Given the description of an element on the screen output the (x, y) to click on. 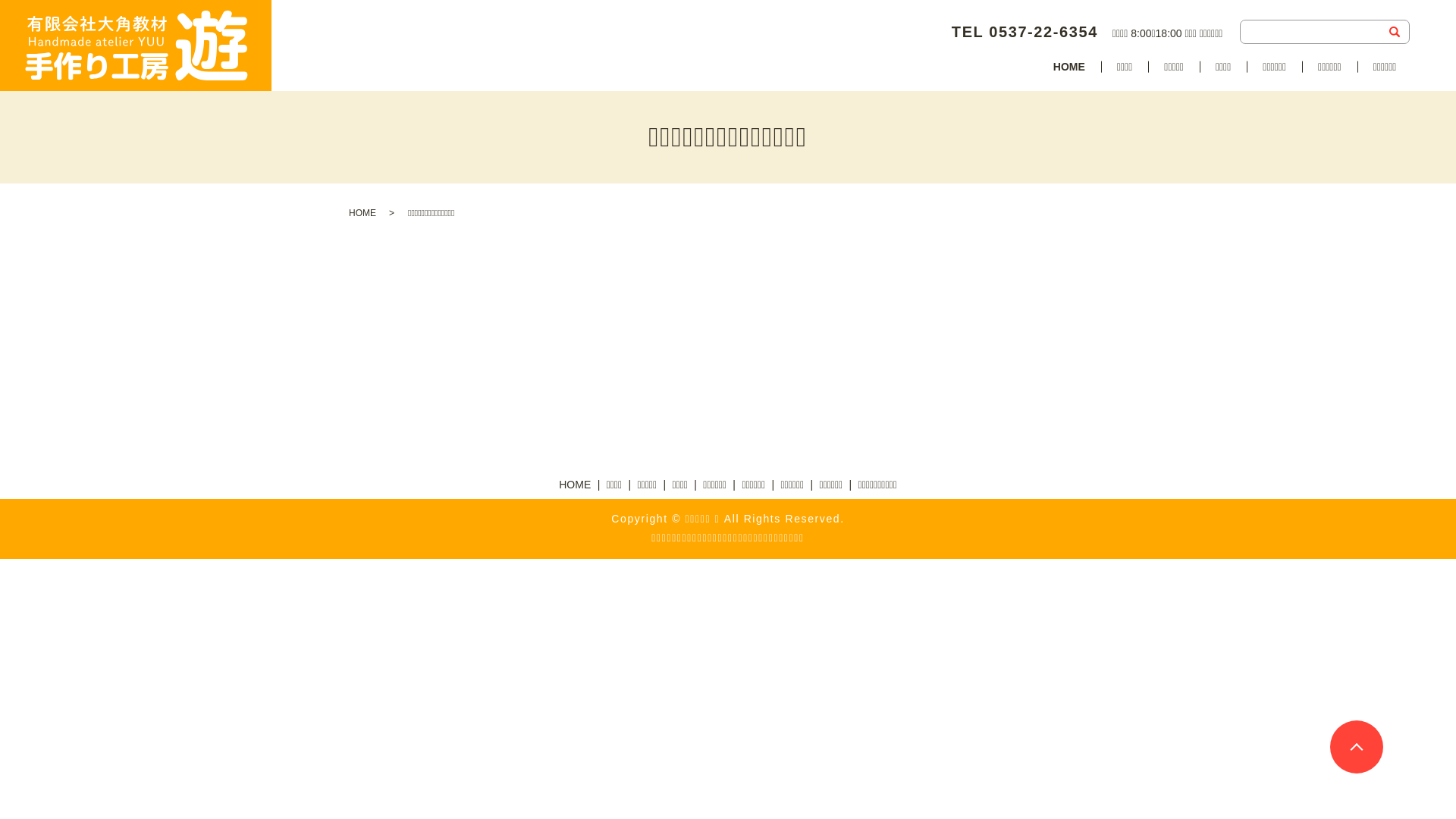
HOME Element type: text (362, 212)
Search Element type: text (1394, 31)
HOME Element type: text (574, 484)
HOME Element type: text (1069, 67)
